Given the description of an element on the screen output the (x, y) to click on. 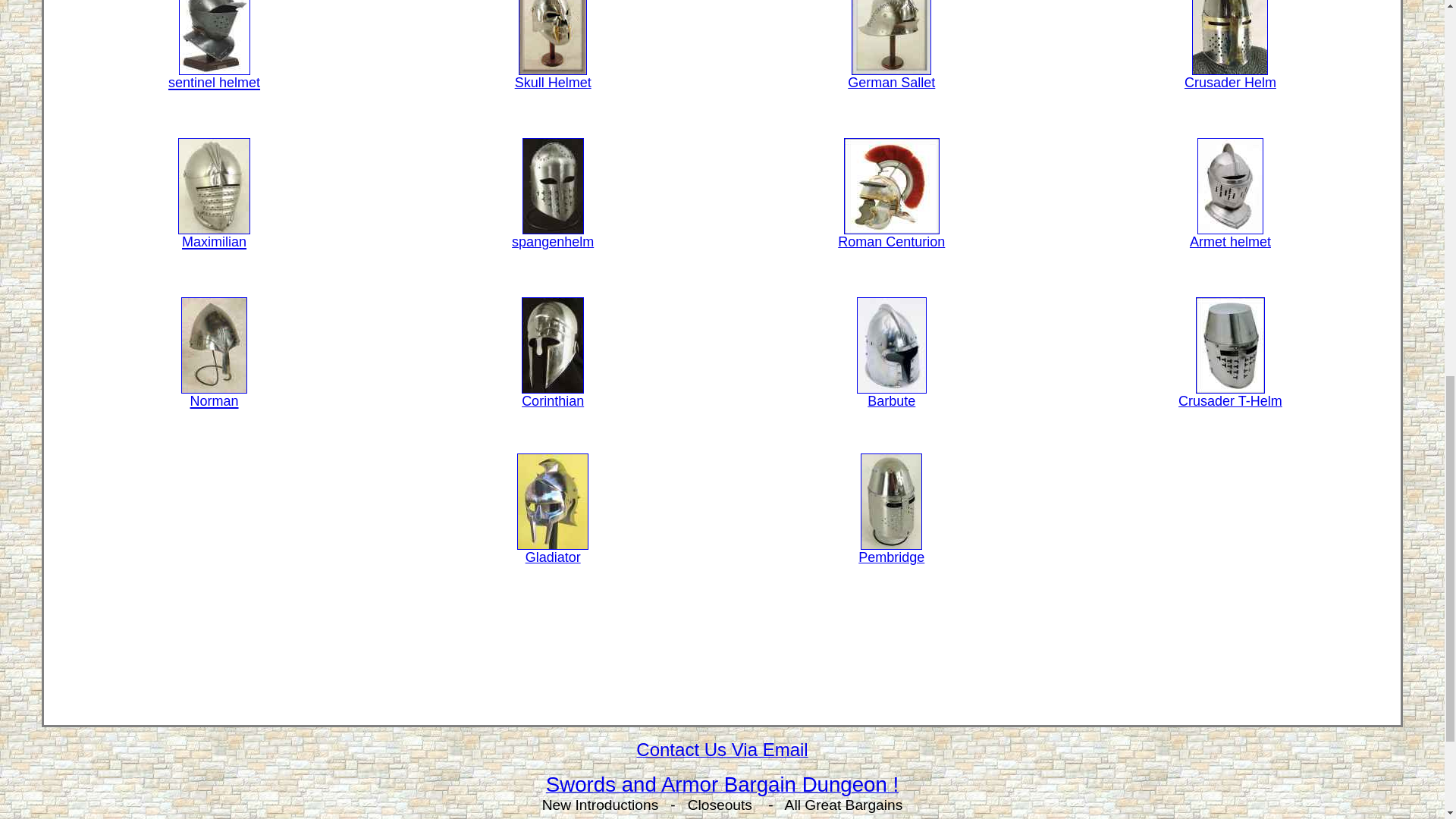
Swords and Armor Bargain Dungeon ! (722, 787)
Norman (213, 392)
Crusader Helm (1230, 76)
Roman Centurion (891, 235)
spangenhelm (553, 235)
Corinthian (552, 395)
Pembridge (891, 551)
Barbute (891, 395)
Armet helmet (1230, 235)
sentinel helmet (214, 74)
German Sallet (890, 76)
Contact Us Via Email (722, 750)
Crusader T-Helm (1229, 395)
Skull Helmet (553, 76)
Maximilian (213, 233)
